Given the description of an element on the screen output the (x, y) to click on. 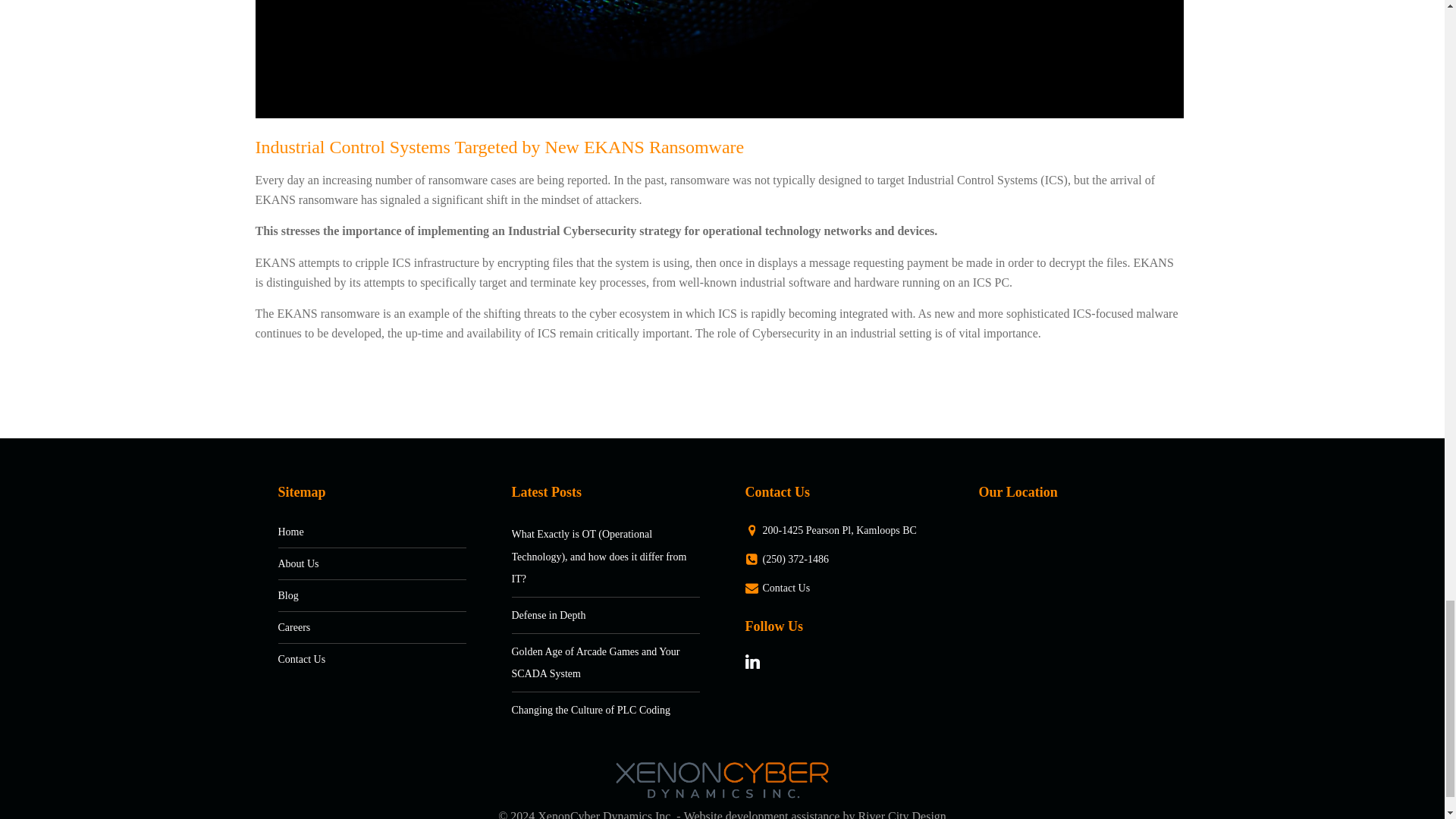
Blog (353, 595)
About Us (353, 563)
Careers (353, 627)
website design kamloops (815, 814)
Contact Us (353, 659)
Golden Age of Arcade Games and Your SCADA System (595, 663)
Changing the Culture of PLC Coding (590, 709)
Website development assistance by River City Design (815, 814)
Home (353, 531)
Defense in Depth  (549, 614)
Contact Us (829, 588)
